Given the description of an element on the screen output the (x, y) to click on. 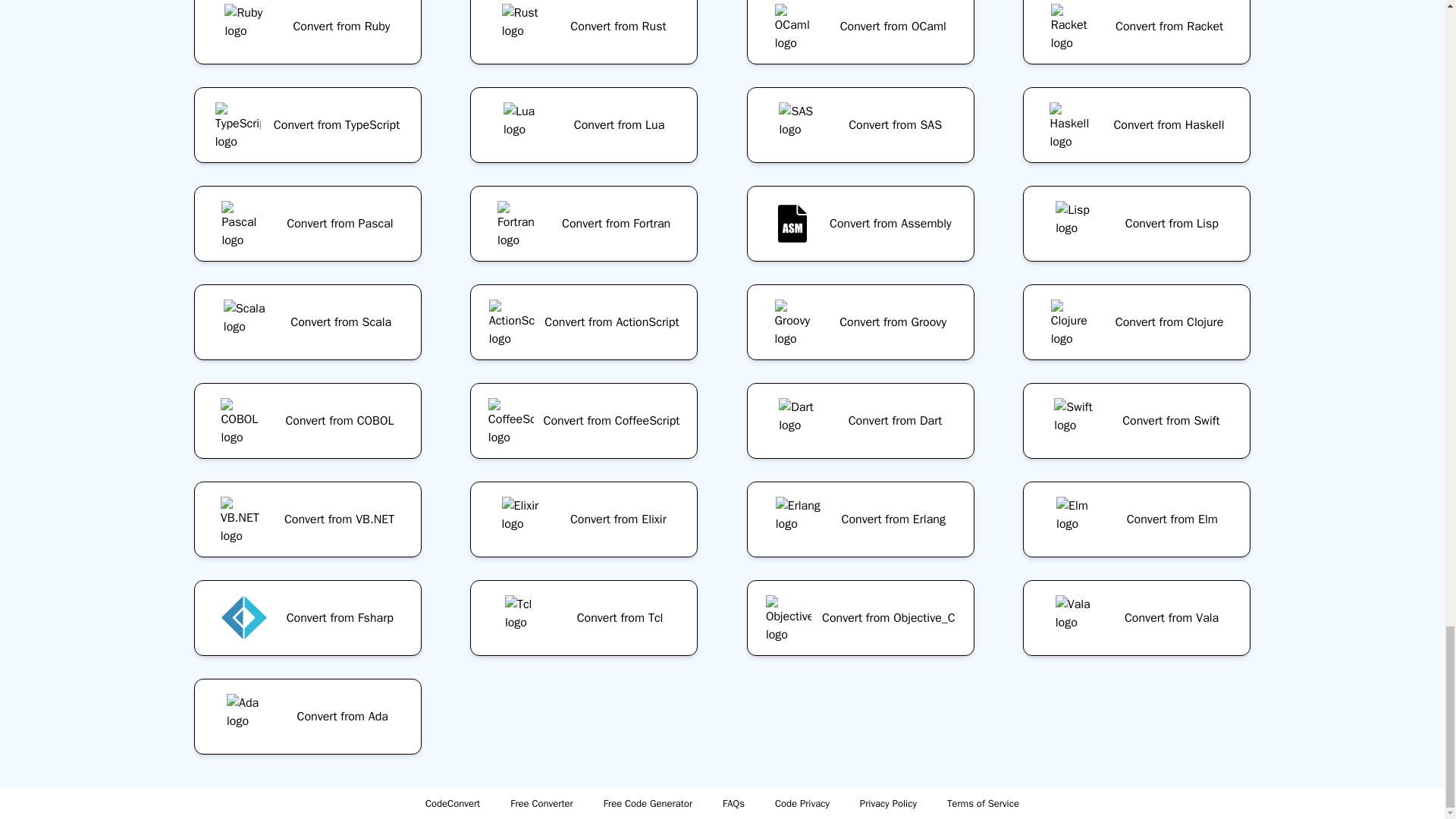
Convert from Pascal (307, 223)
Convert from Clojure (1136, 321)
Convert from OCaml (860, 38)
Convert from ActionScript (583, 321)
Convert from CoffeeScript (583, 420)
Convert from Lua (583, 125)
Convert from Fortran (583, 223)
Convert from Haskell (1136, 125)
Convert from Assembly (860, 223)
Convert from COBOL (307, 420)
Convert from Ruby (307, 38)
Convert from TypeScript (307, 125)
Convert from Groovy (860, 321)
Convert from Rust (583, 38)
Convert from SAS (860, 125)
